Given the description of an element on the screen output the (x, y) to click on. 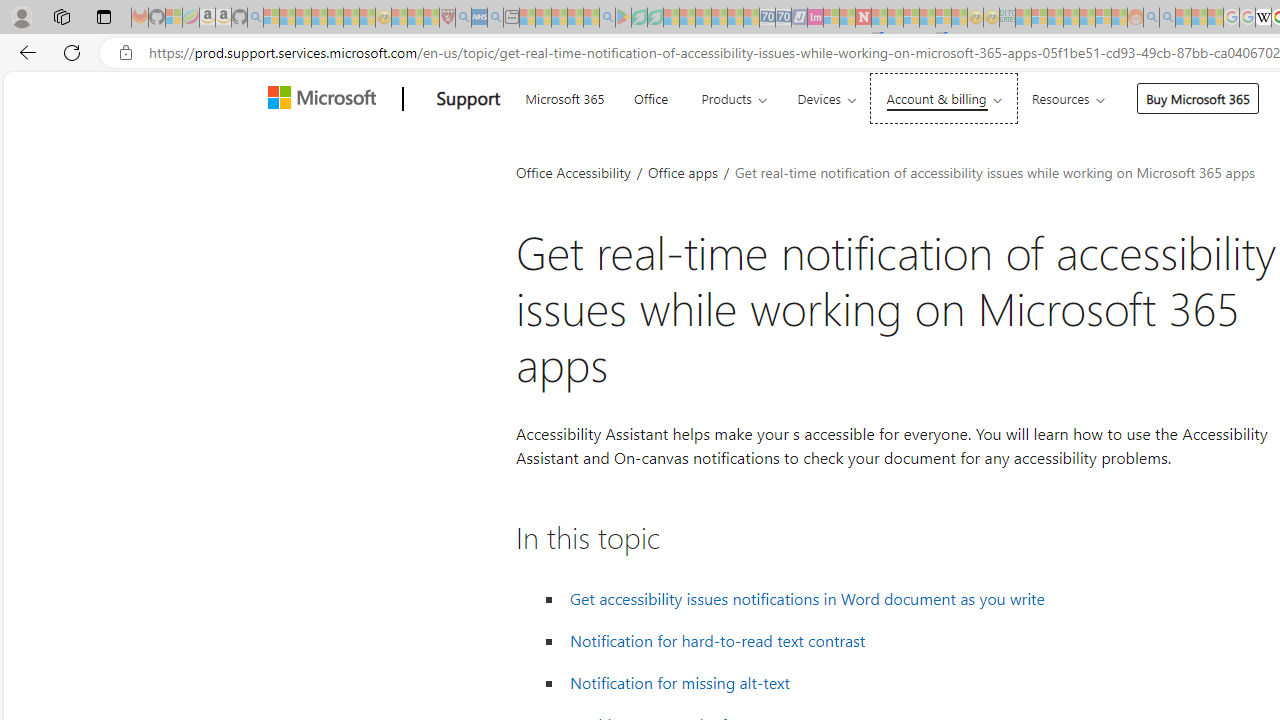
Microsoft (326, 99)
Terms of Use Agreement - Sleeping (639, 17)
Kinda Frugal - MSN - Sleeping (1087, 17)
The Weather Channel - MSN - Sleeping (303, 17)
Cheap Hotels - Save70.com - Sleeping (783, 17)
Local - MSN - Sleeping (431, 17)
Latest Politics News & Archive | Newsweek.com - Sleeping (863, 17)
